Given the description of an element on the screen output the (x, y) to click on. 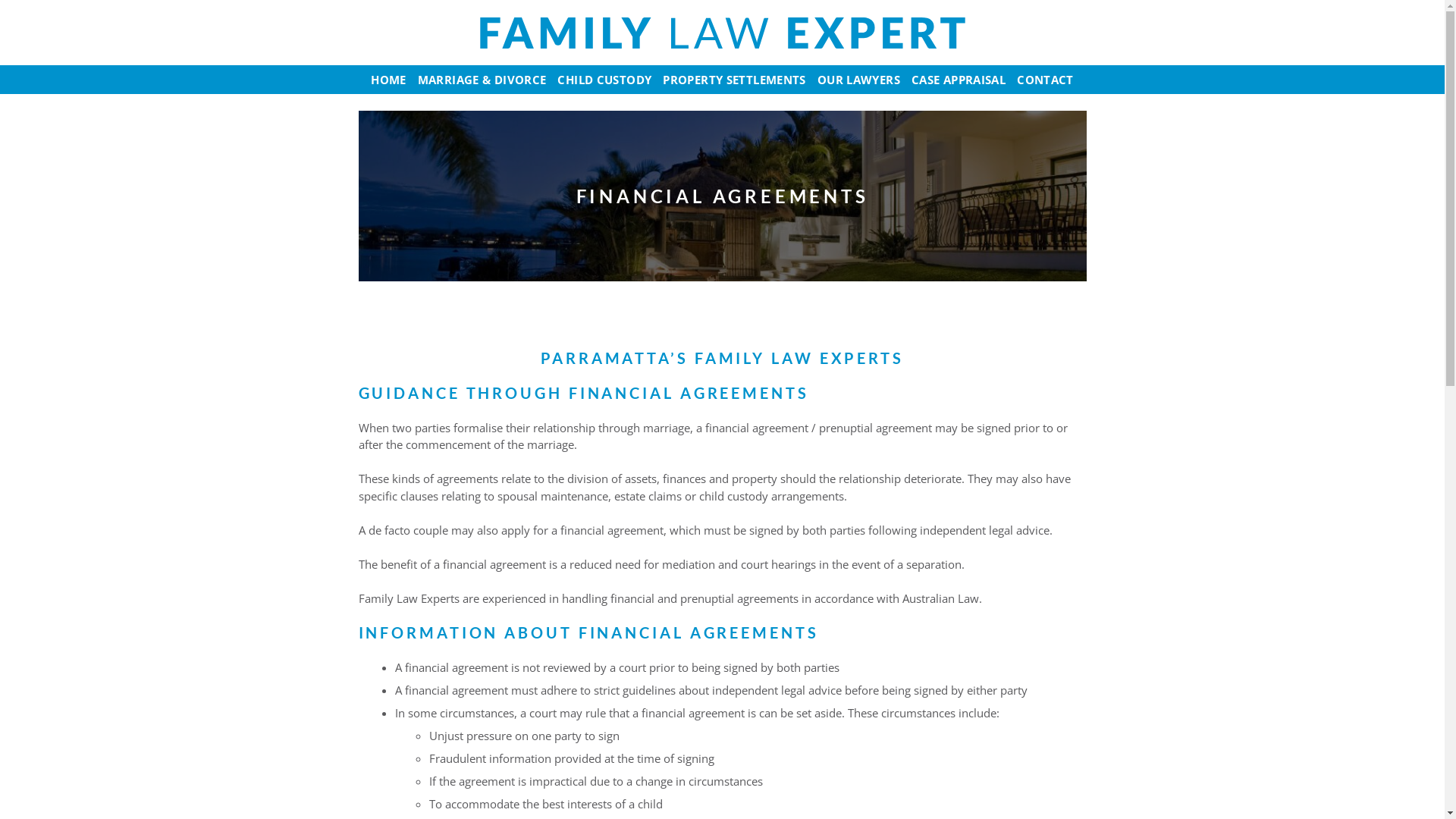
PROPERTY SETTLEMENTS Element type: text (734, 79)
CASE APPRAISAL Element type: text (957, 79)
CONTACT Element type: text (1045, 79)
CHILD CUSTODY Element type: text (604, 79)
Return to homepage Element type: hover (721, 31)
HOME Element type: text (388, 79)
MARRIAGE & DIVORCE Element type: text (481, 79)
OUR LAWYERS Element type: text (858, 79)
